Given the description of an element on the screen output the (x, y) to click on. 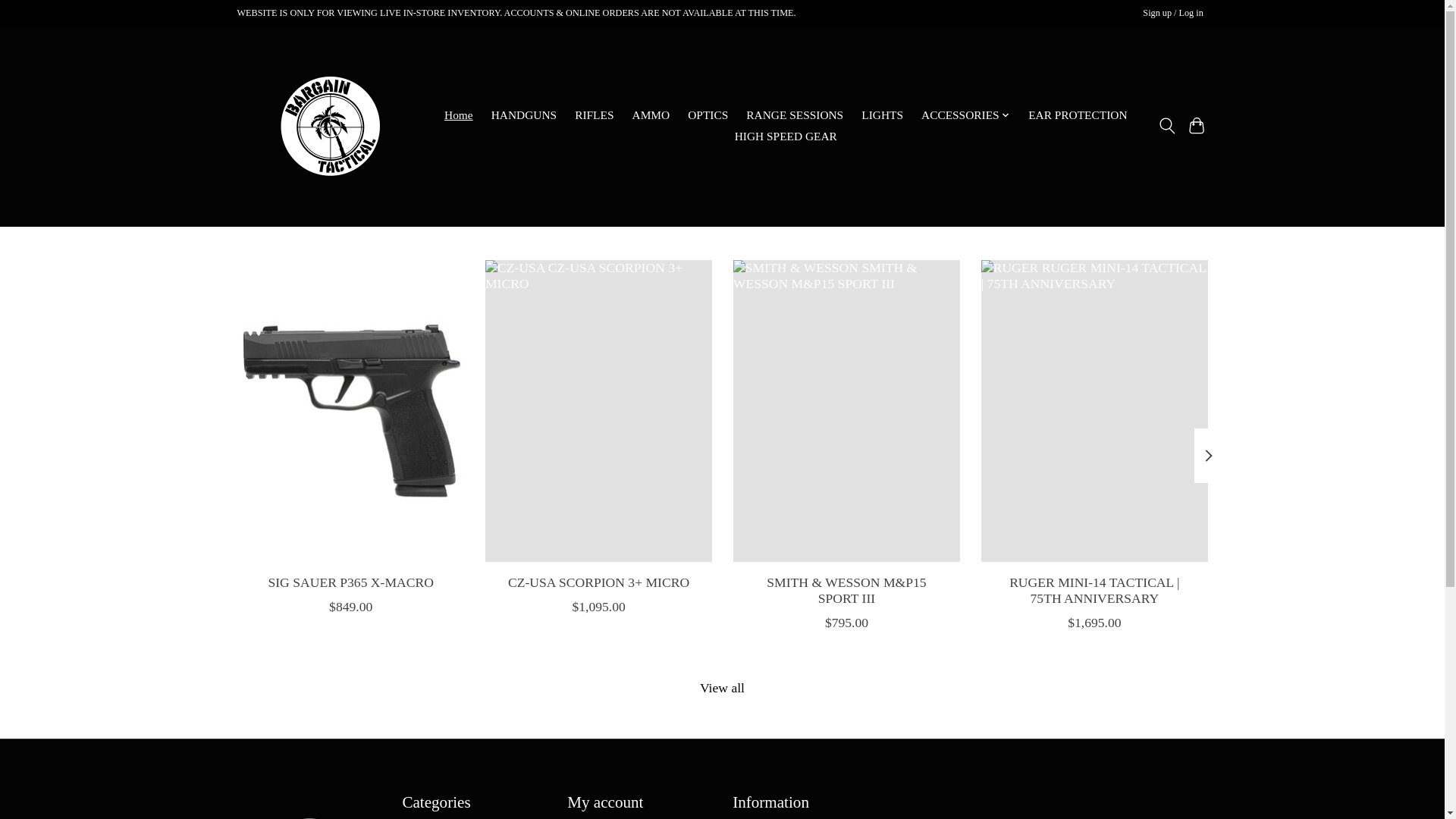
My account (1173, 13)
SIG SAUER SIG SAUER P365 X-MACRO (349, 410)
Home (459, 115)
EAR PROTECTION (1077, 115)
HANDGUNS (524, 115)
SIG SAUER P365 X-MACRO (350, 581)
OPTICS (707, 115)
LIGHTS (882, 115)
HIGH SPEED GEAR (786, 136)
ACCESSORIES (964, 115)
Bargain Tactical  (328, 125)
RANGE SESSIONS (794, 115)
RIFLES (594, 115)
AMMO (650, 115)
